Given the description of an element on the screen output the (x, y) to click on. 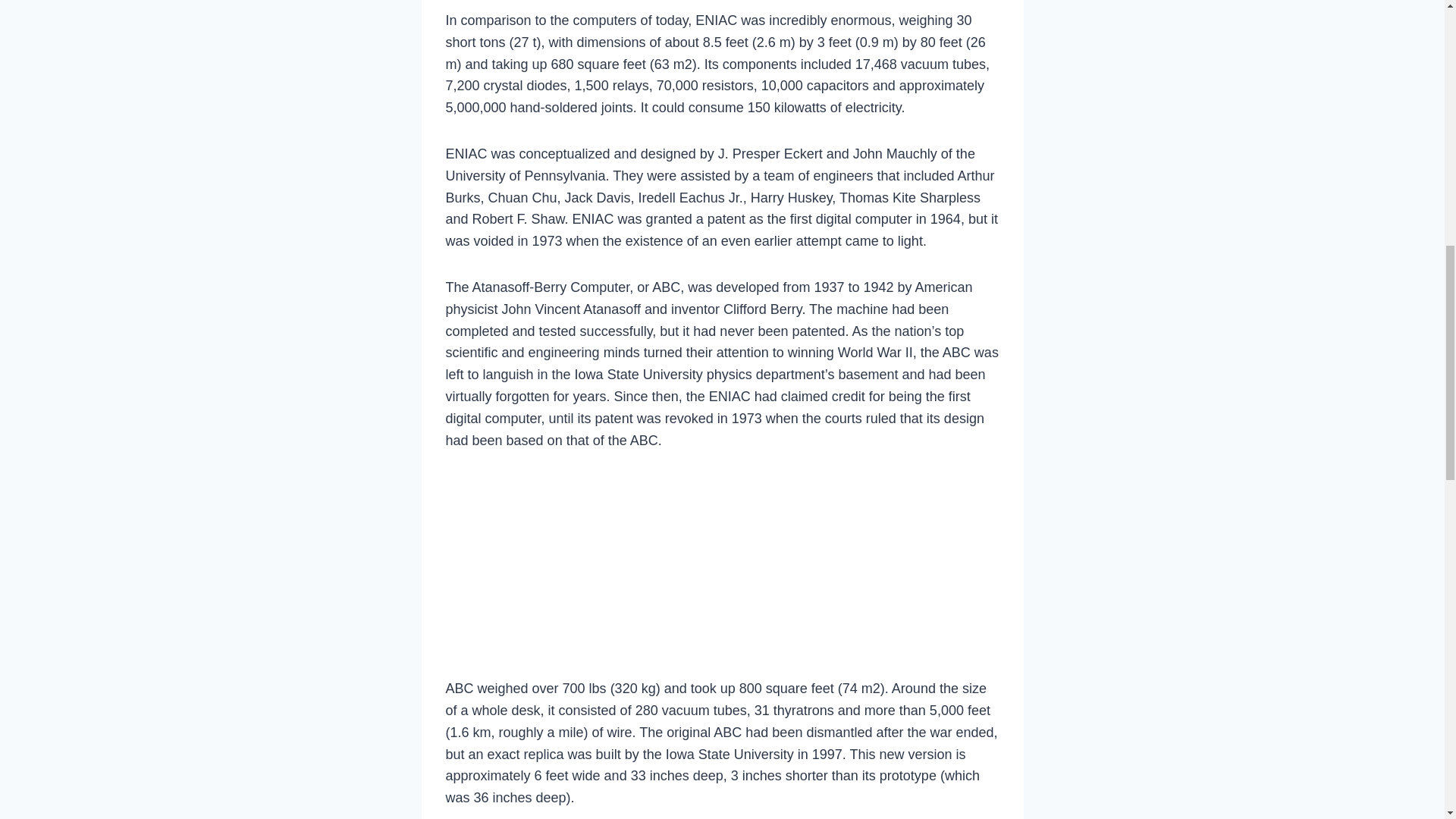
Advertisement (721, 570)
